Given the description of an element on the screen output the (x, y) to click on. 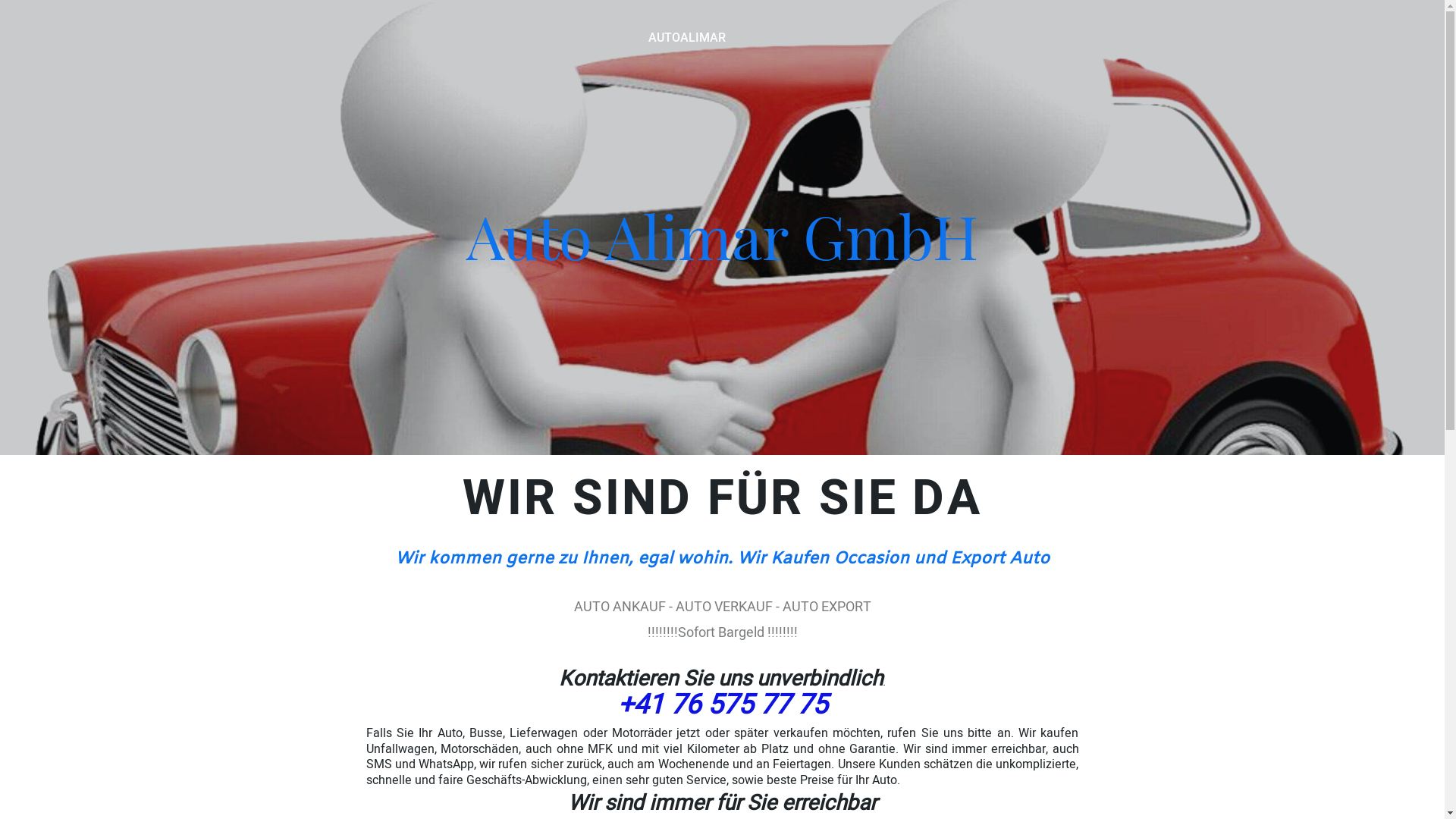
AUTOALIMAR Element type: text (686, 38)
